Given the description of an element on the screen output the (x, y) to click on. 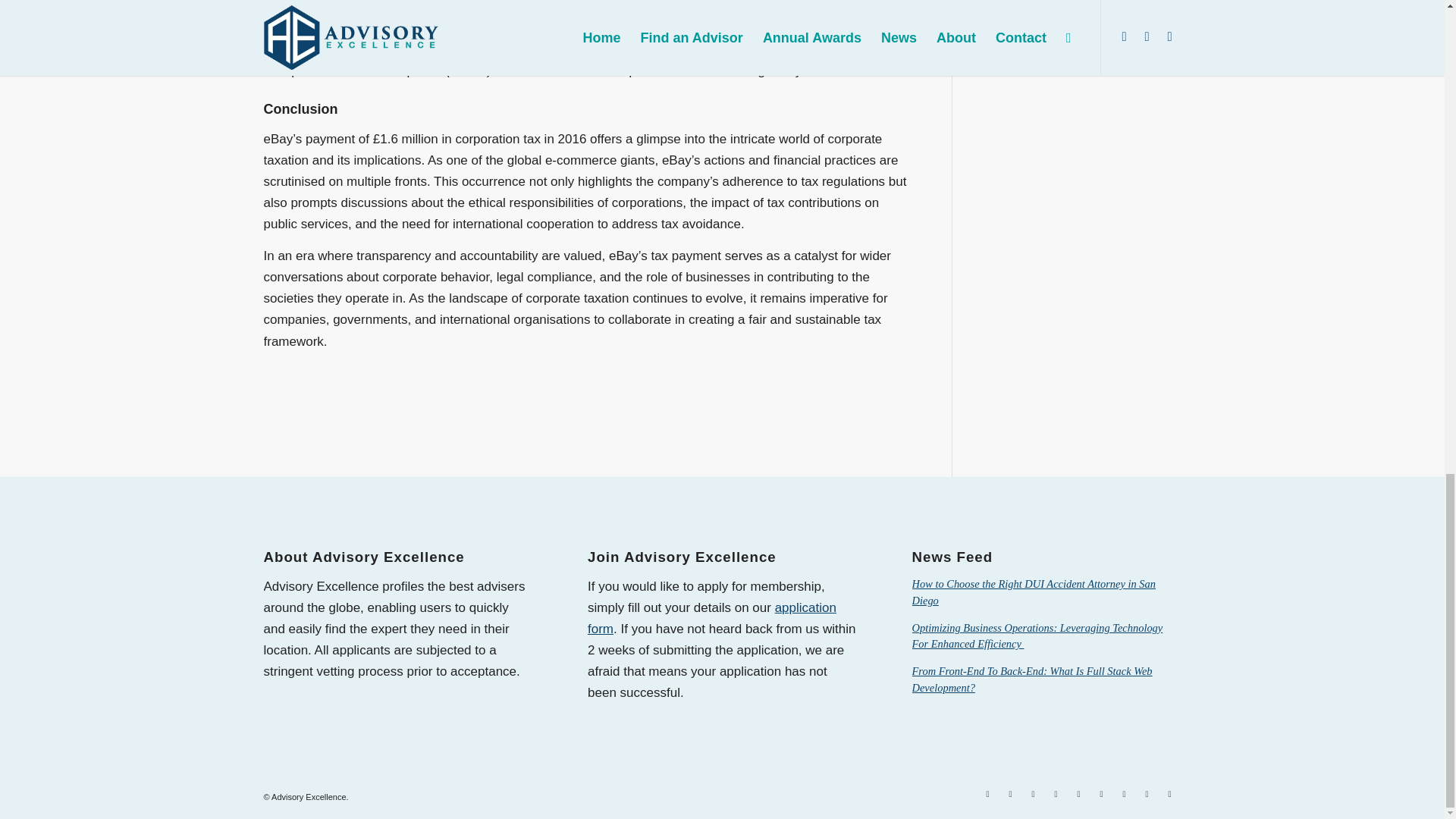
How to Choose the Right DUI Accident Attorney in San Diego (1034, 592)
application form (711, 618)
Advisory Excellence (308, 796)
